Given the description of an element on the screen output the (x, y) to click on. 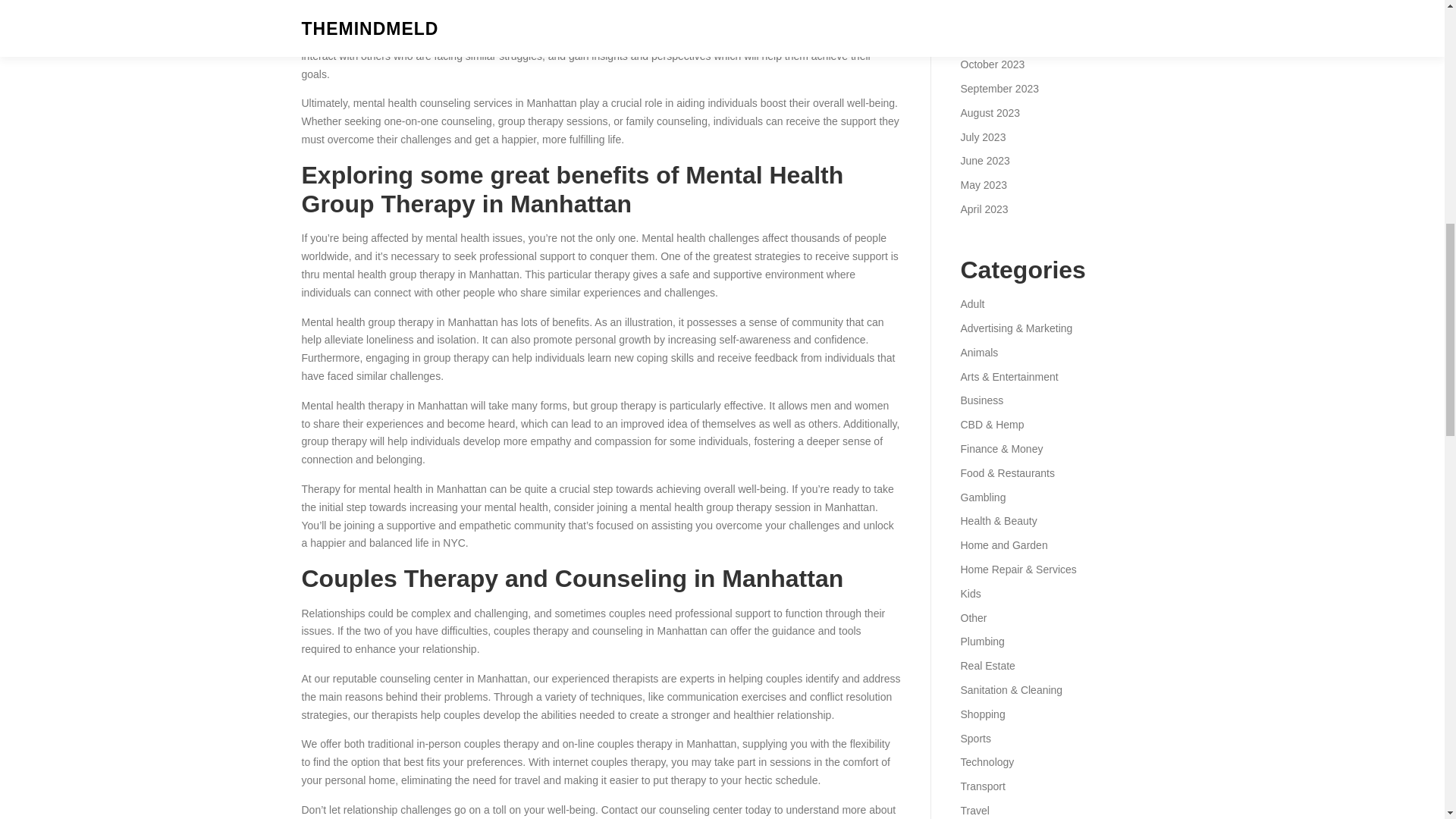
June 2023 (984, 160)
September 2023 (999, 88)
August 2023 (989, 112)
October 2023 (992, 64)
Business (981, 399)
April 2023 (983, 209)
May 2023 (982, 184)
Adult (971, 304)
December 2023 (997, 16)
November 2023 (997, 39)
